Given the description of an element on the screen output the (x, y) to click on. 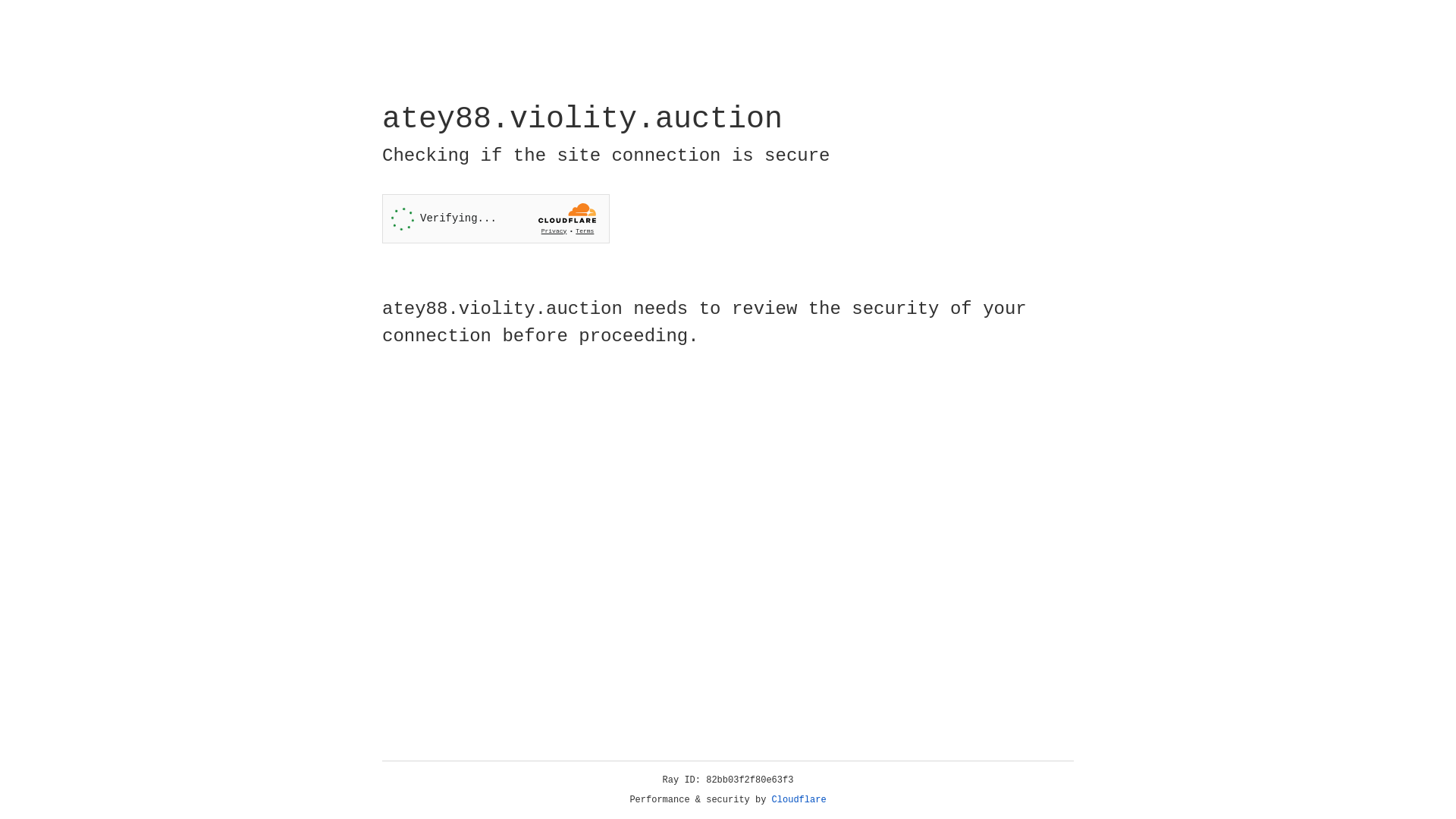
Widget containing a Cloudflare security challenge Element type: hover (495, 218)
Cloudflare Element type: text (798, 799)
